Given the description of an element on the screen output the (x, y) to click on. 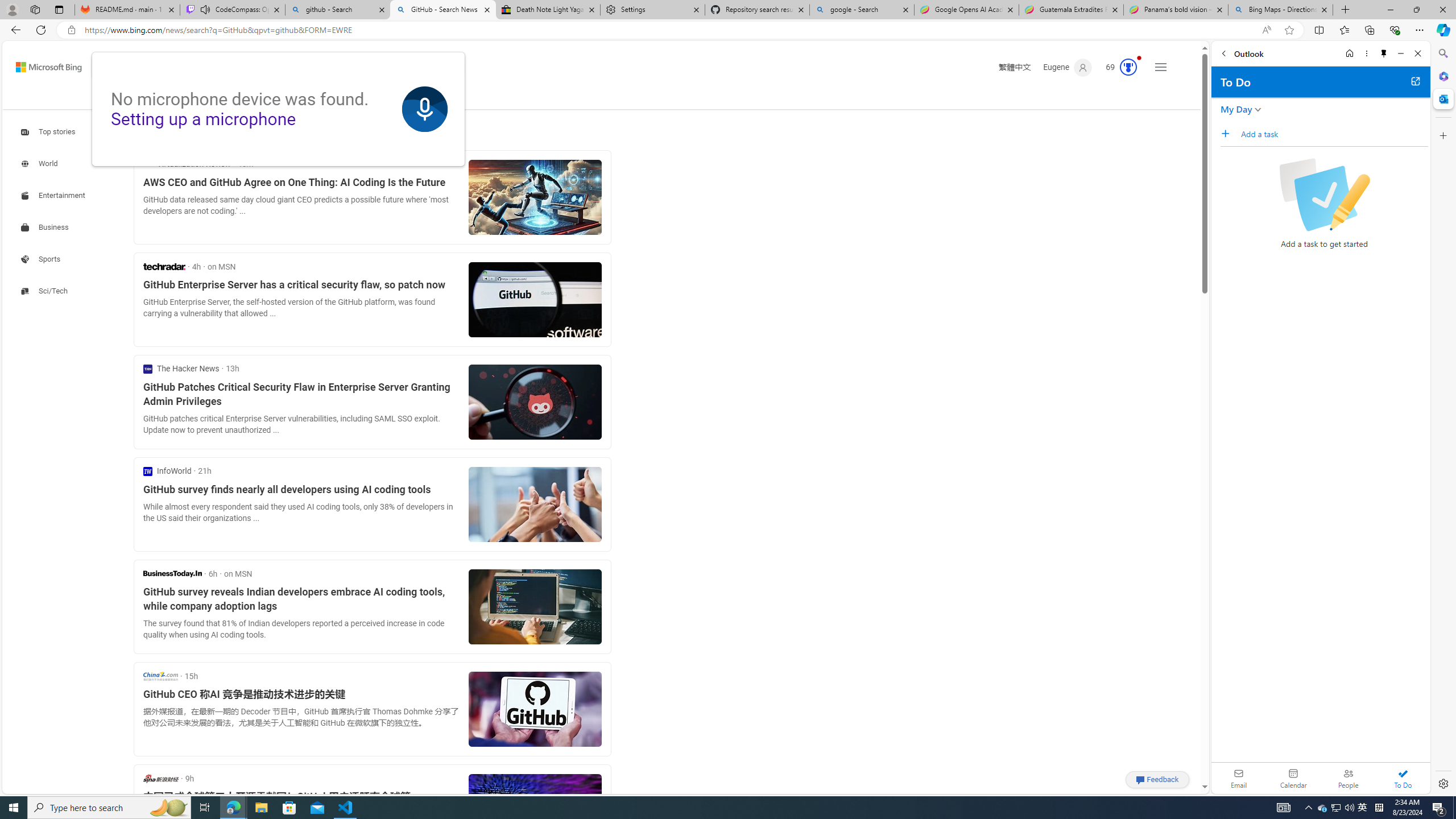
COPILOT (178, 96)
AutomationID: serp_medal_svg (1128, 67)
Close Outlook pane (1442, 98)
Business Today (172, 573)
IMAGES (224, 98)
NEWS (350, 96)
Search button (447, 66)
COPILOT (178, 98)
Feedback (1157, 779)
Back to Bing search (41, 64)
